Given the description of an element on the screen output the (x, y) to click on. 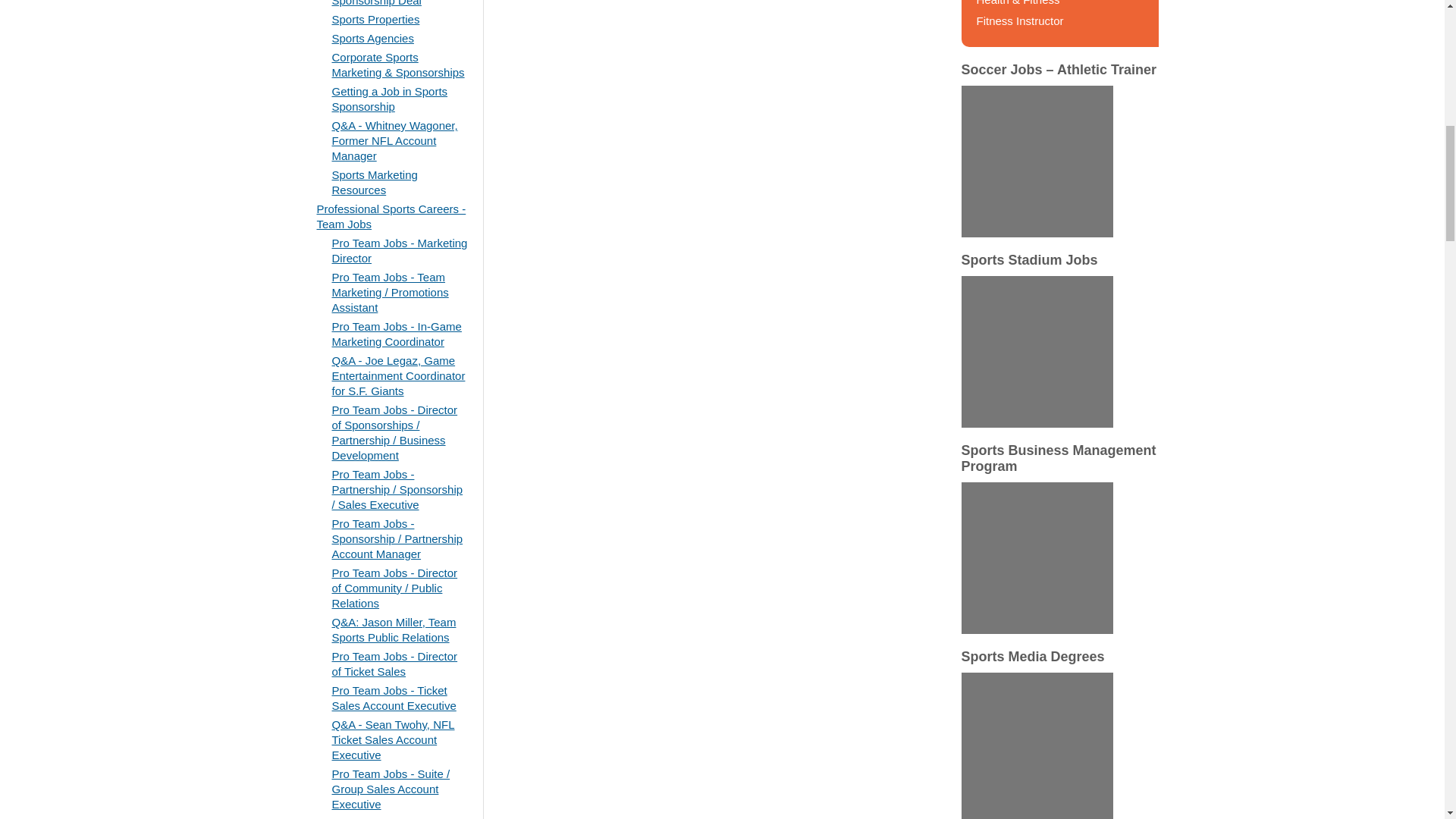
Sports Marketing Resources (374, 182)
Getting a Job in Sports Sponsorship (389, 99)
Sports Agencies (372, 38)
Sports Properties (375, 19)
Professional Sports Careers - Team Jobs (391, 216)
Creating a Sports Sponsorship Deal (376, 3)
